Given the description of an element on the screen output the (x, y) to click on. 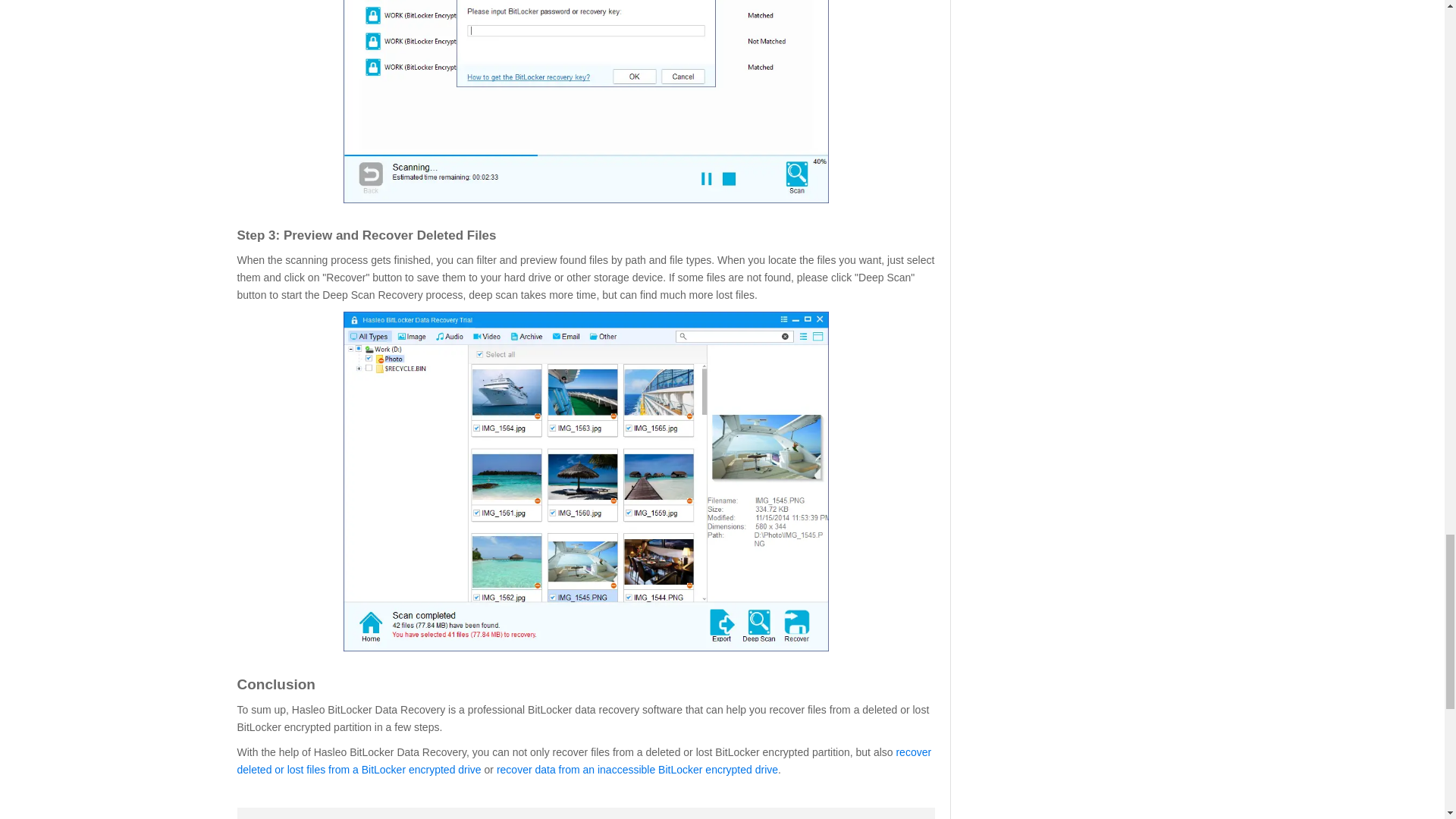
recover data from an inaccessible BitLocker encrypted drive (636, 769)
